Given the description of an element on the screen output the (x, y) to click on. 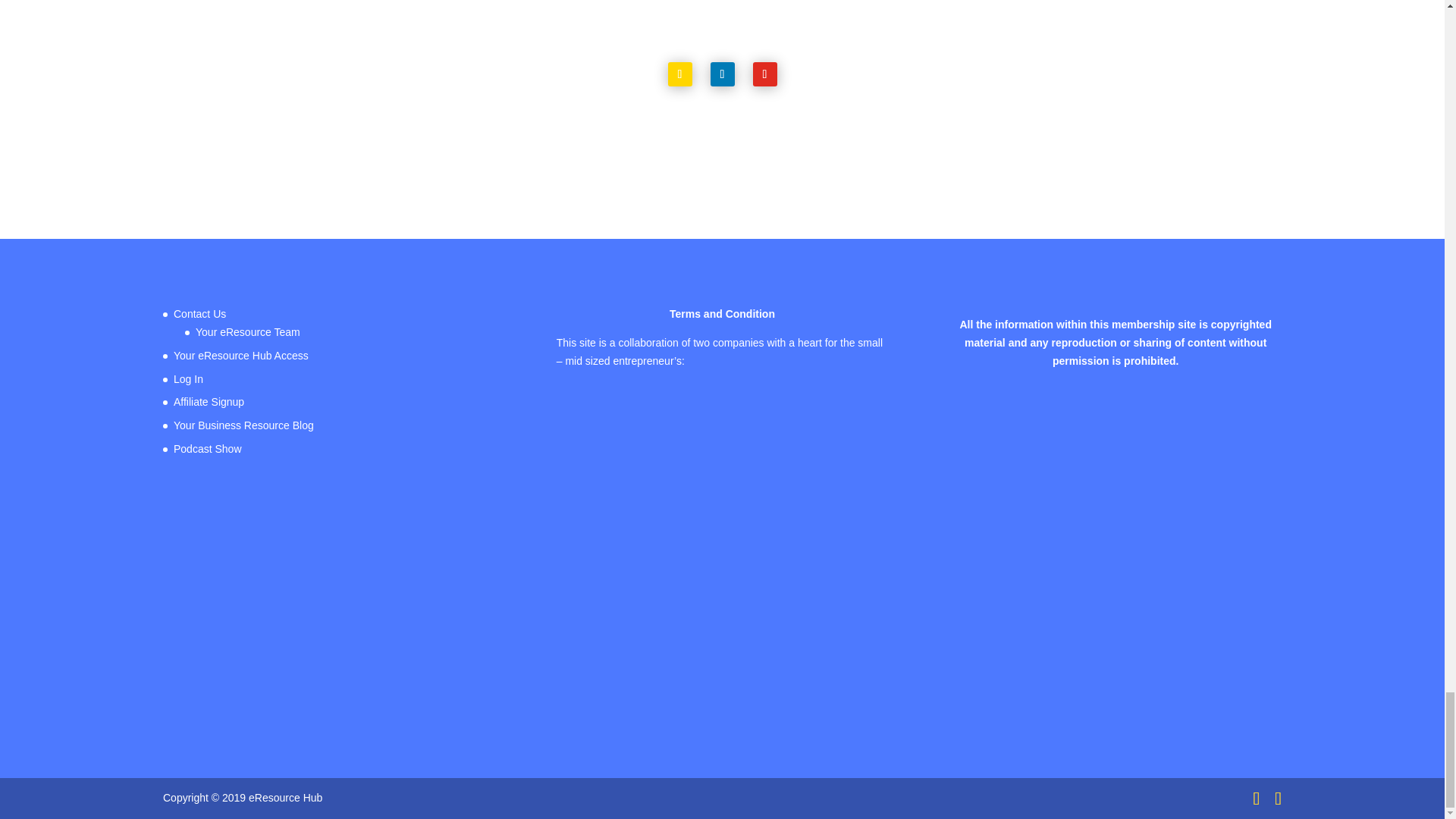
Follow on LinkedIn (721, 74)
Follow on Facebook (678, 74)
Contact Us (199, 313)
Affiliate Signup (208, 401)
Log In (188, 378)
Terms and Condition (721, 313)
Podcast Show (207, 449)
Your eResource Team (247, 331)
Your eResource Hub Access (240, 355)
Follow on Instagram (764, 74)
